Given the description of an element on the screen output the (x, y) to click on. 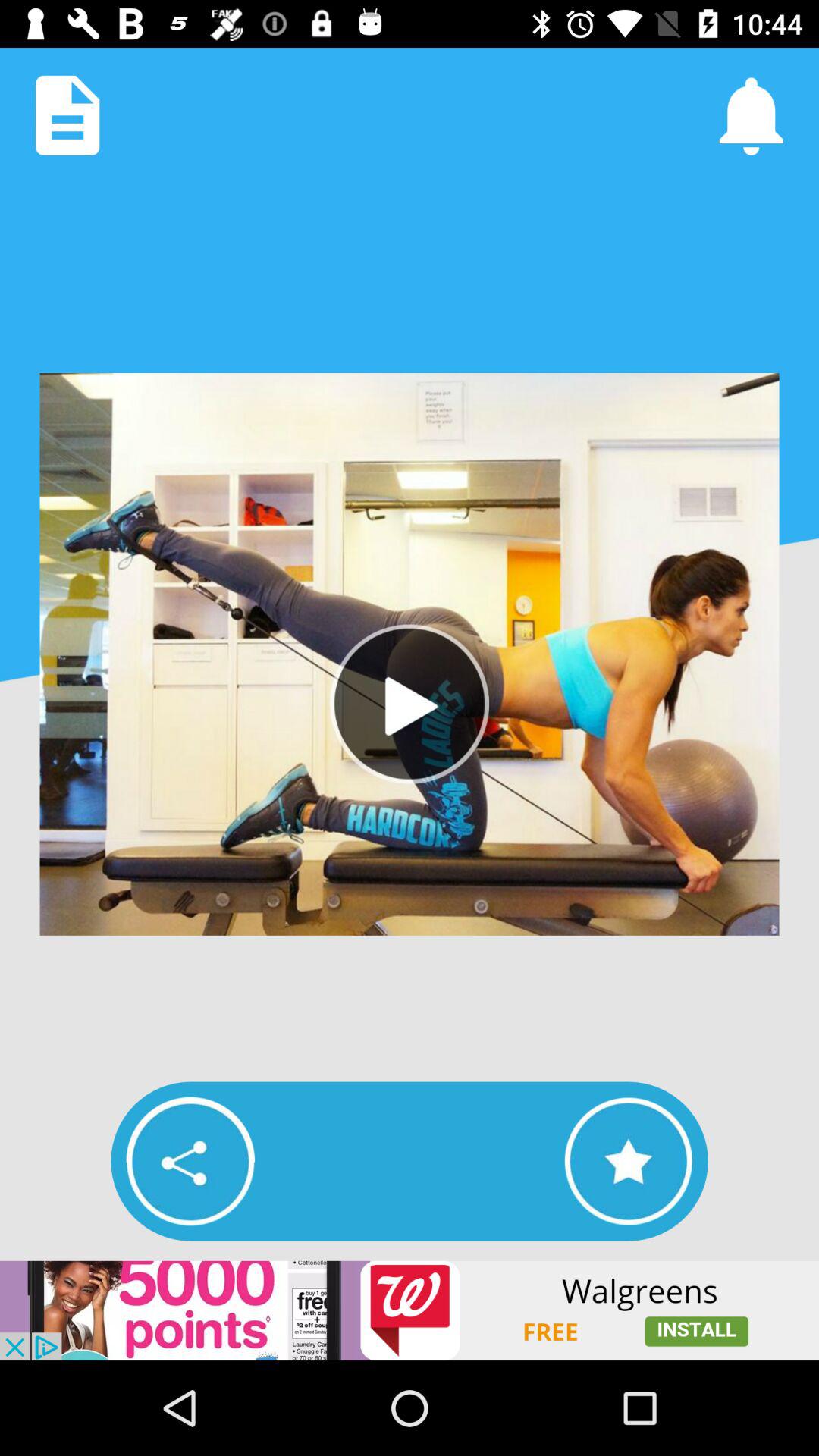
get notifications (751, 115)
